Given the description of an element on the screen output the (x, y) to click on. 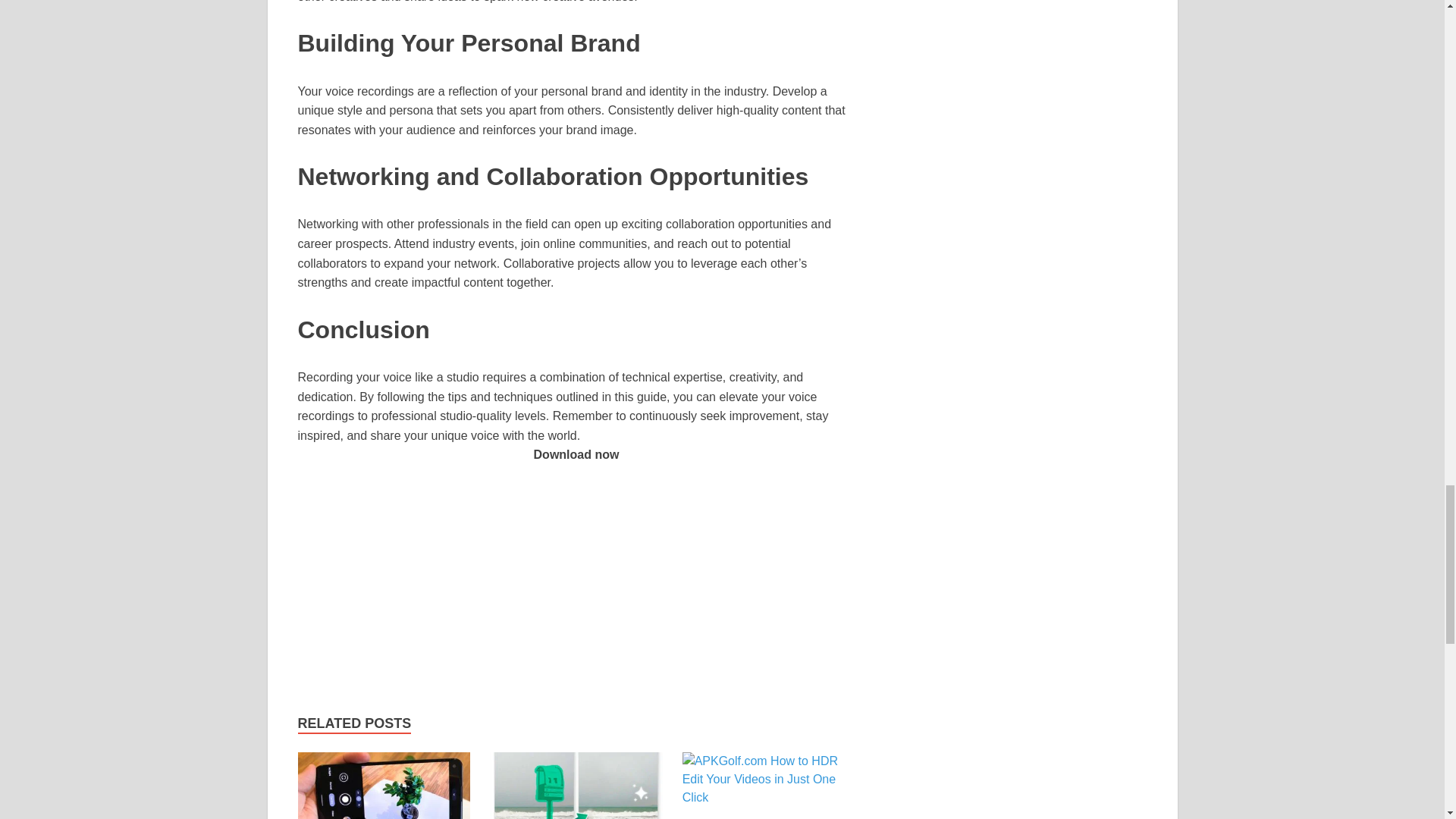
How to HDR Edit Your Videos in Just One Click (769, 784)
New Best Camera App For You Download For Your Device (383, 811)
How to HDR Edit Your Videos in Just One Click 4 (769, 779)
New Best Camera App For You Download For Your Device 2 (383, 785)
